Given the description of an element on the screen output the (x, y) to click on. 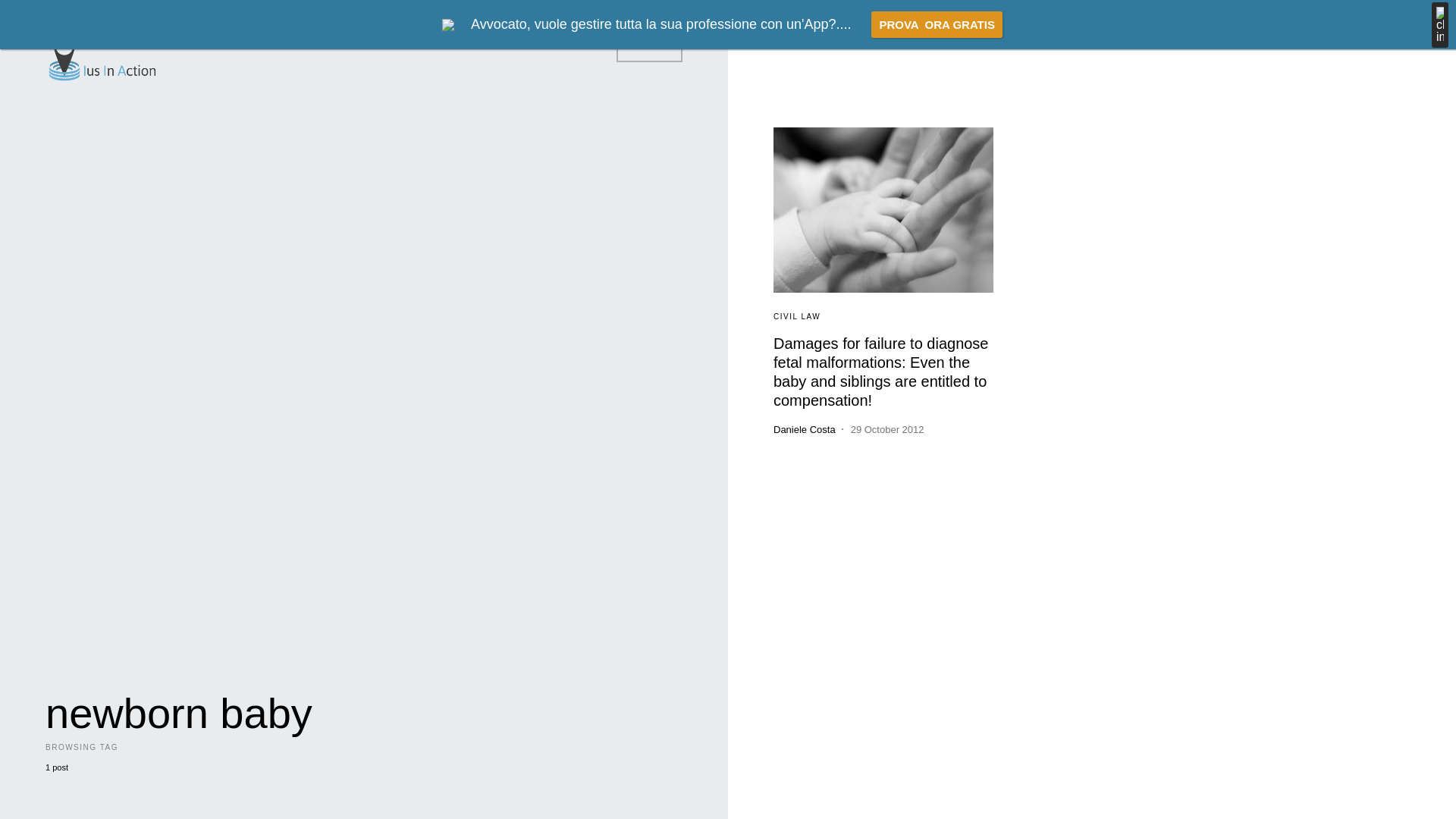
View all posts by Daniele Costa (804, 428)
CIVIL LAW (797, 316)
Daniele Costa (804, 428)
